Given the description of an element on the screen output the (x, y) to click on. 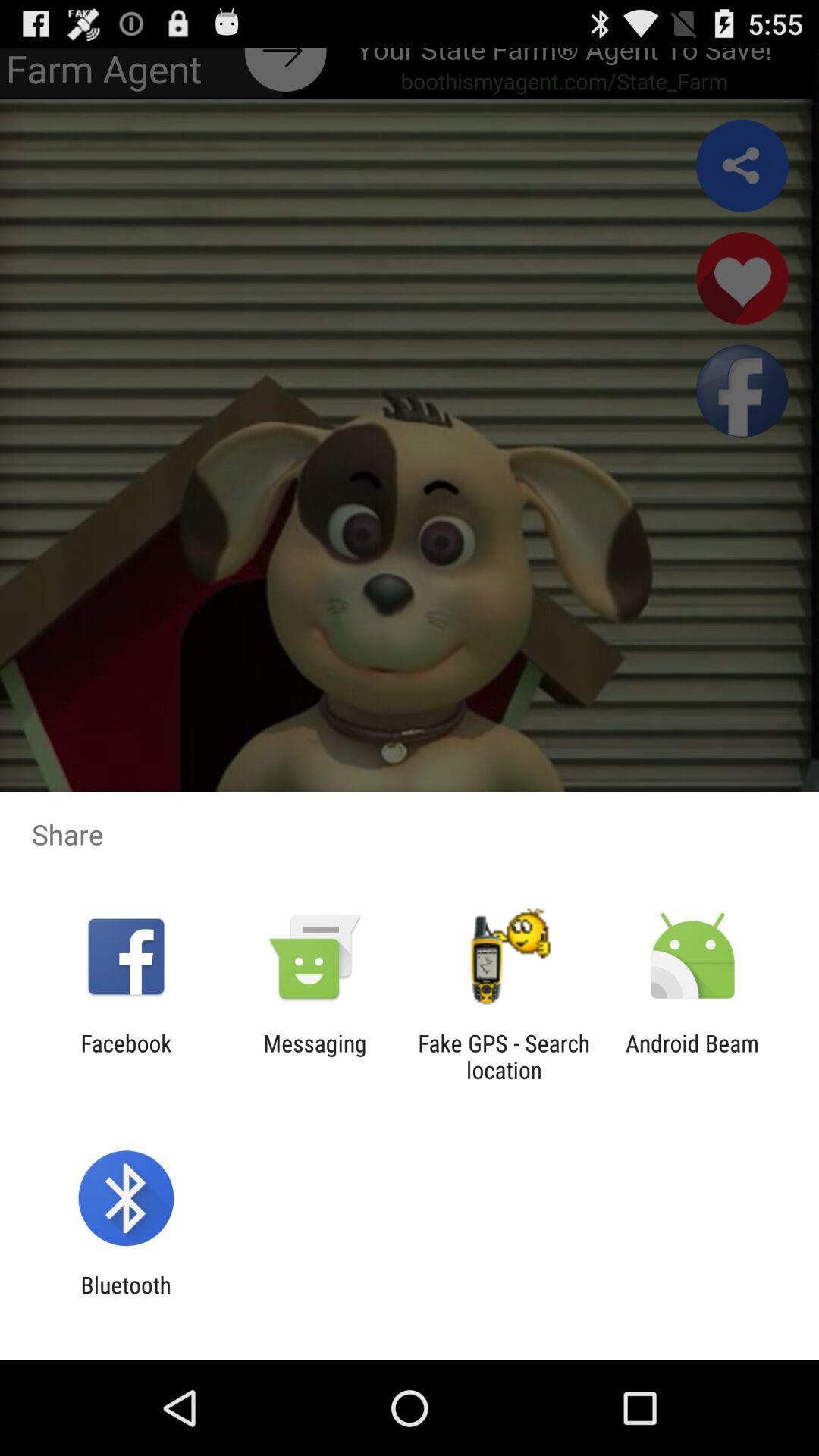
scroll to facebook app (125, 1056)
